Given the description of an element on the screen output the (x, y) to click on. 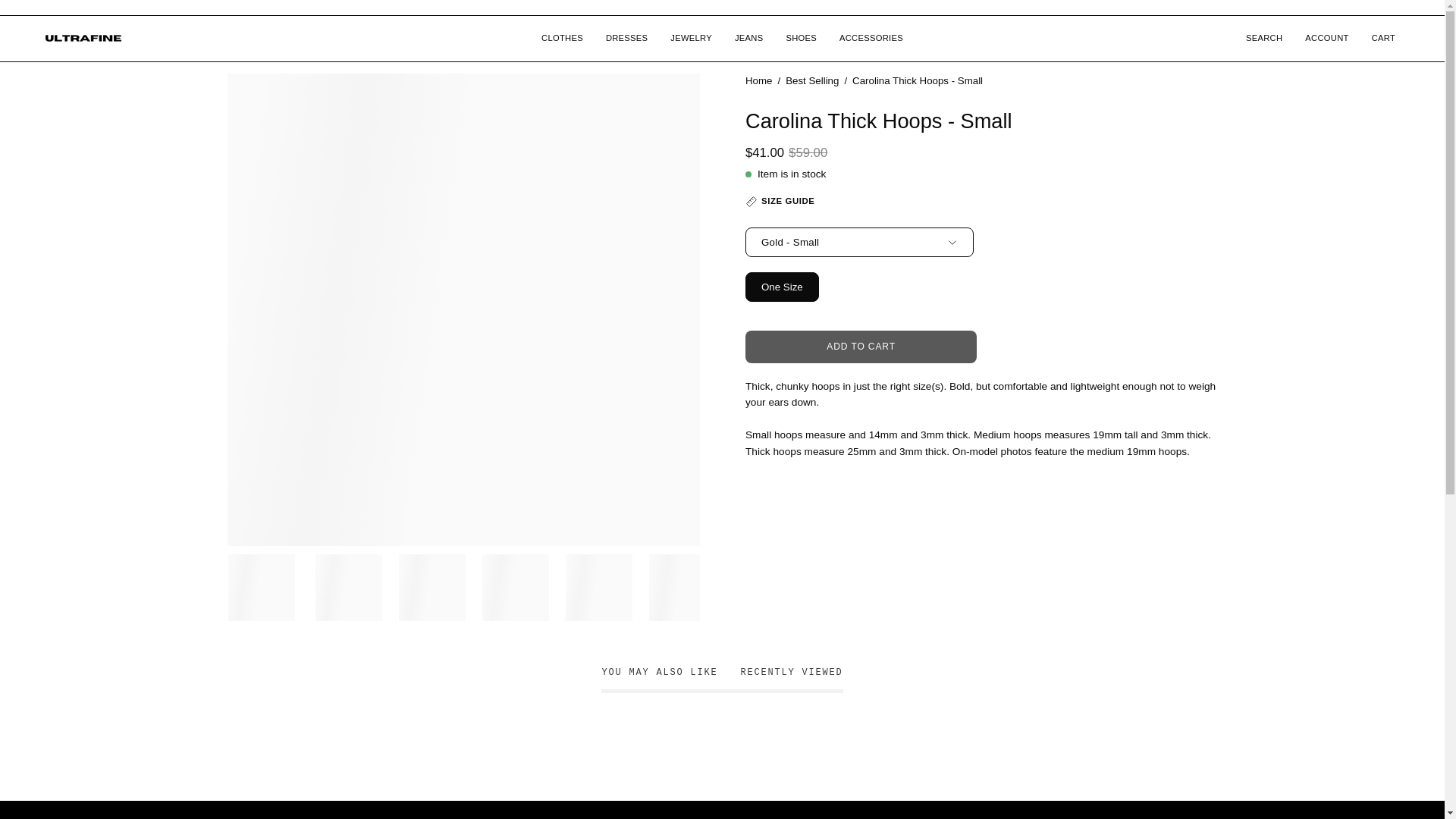
Open search bar (1264, 38)
Go back to Home page (722, 682)
